Given the description of an element on the screen output the (x, y) to click on. 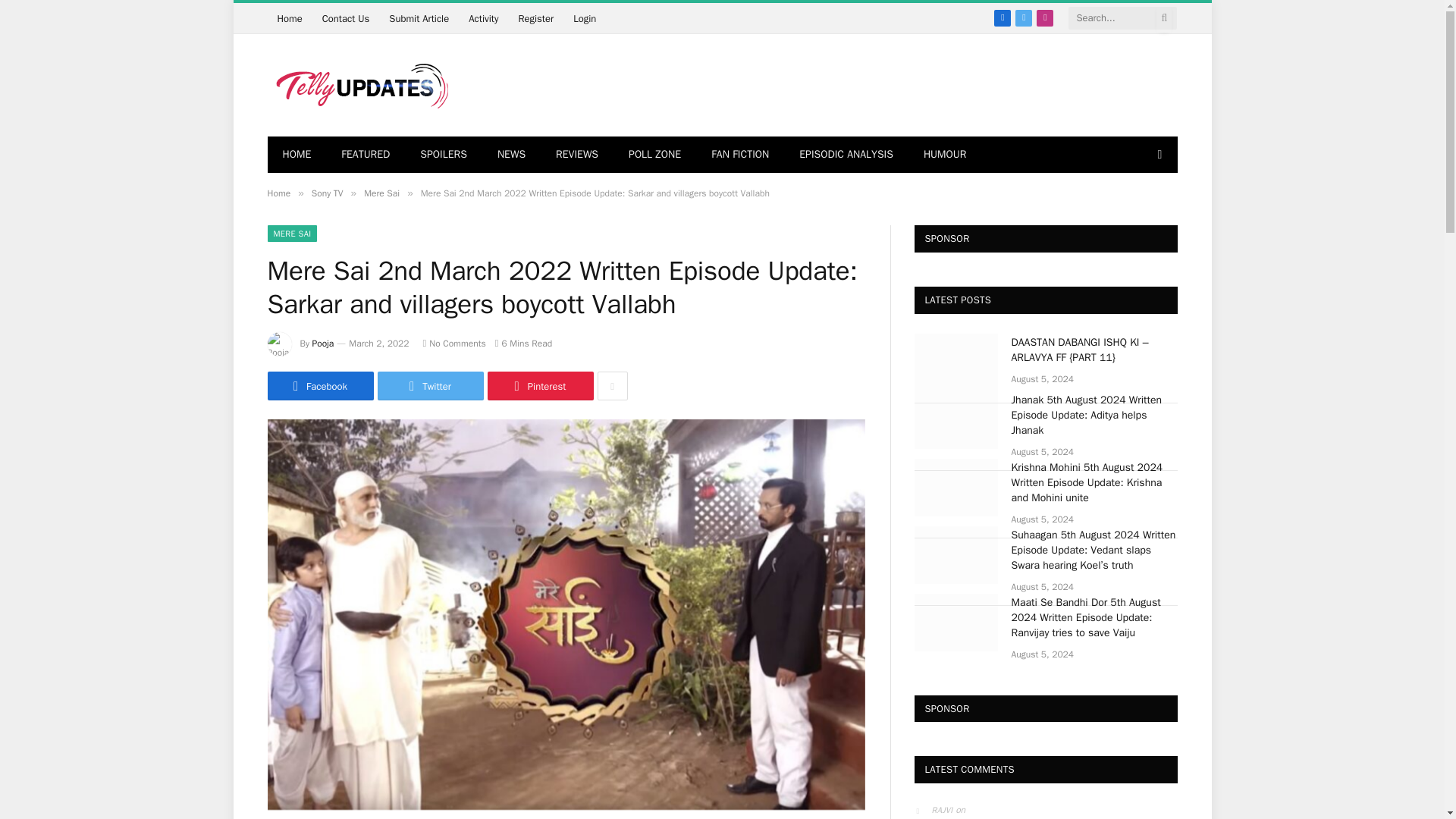
SPOILERS (442, 154)
Switch to Dark Design - easier on eyes. (1158, 154)
Go To Homepage (288, 18)
Posts by Pooja (323, 343)
HOME (296, 154)
Home (277, 193)
HUMOUR (944, 154)
Contact Us (346, 18)
Share on Pinterest (539, 385)
REVIEWS (576, 154)
Login (584, 18)
Share on Facebook (319, 385)
Submit Article (418, 18)
Go to Home Page (296, 154)
Submit Article (418, 18)
